Given the description of an element on the screen output the (x, y) to click on. 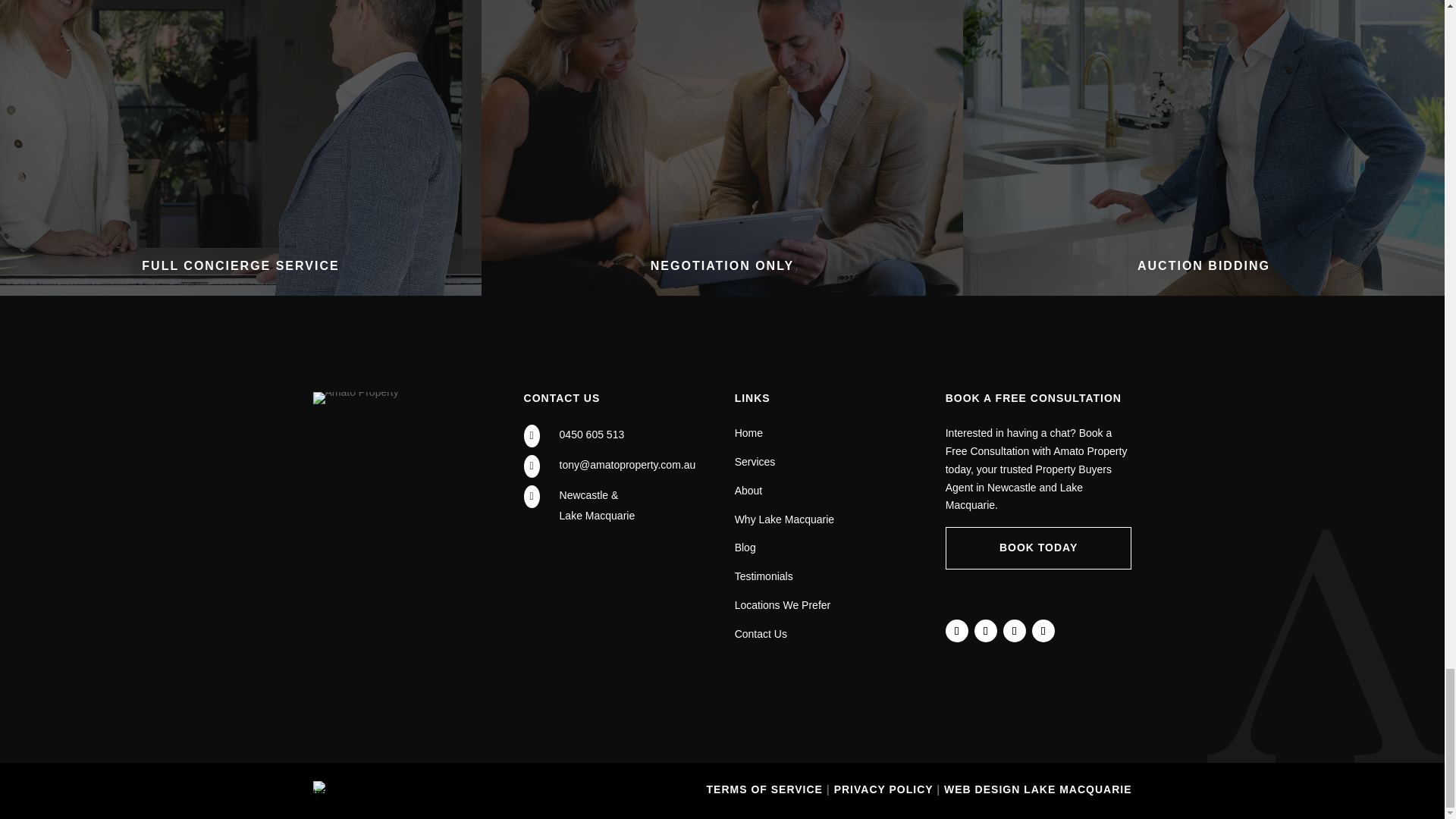
psyborg Icon (323, 787)
Follow on Youtube (1043, 630)
Follow on LinkedIn (985, 630)
Follow on Instagram (1014, 630)
Amato Property (355, 398)
Follow on Facebook (956, 630)
